Given the description of an element on the screen output the (x, y) to click on. 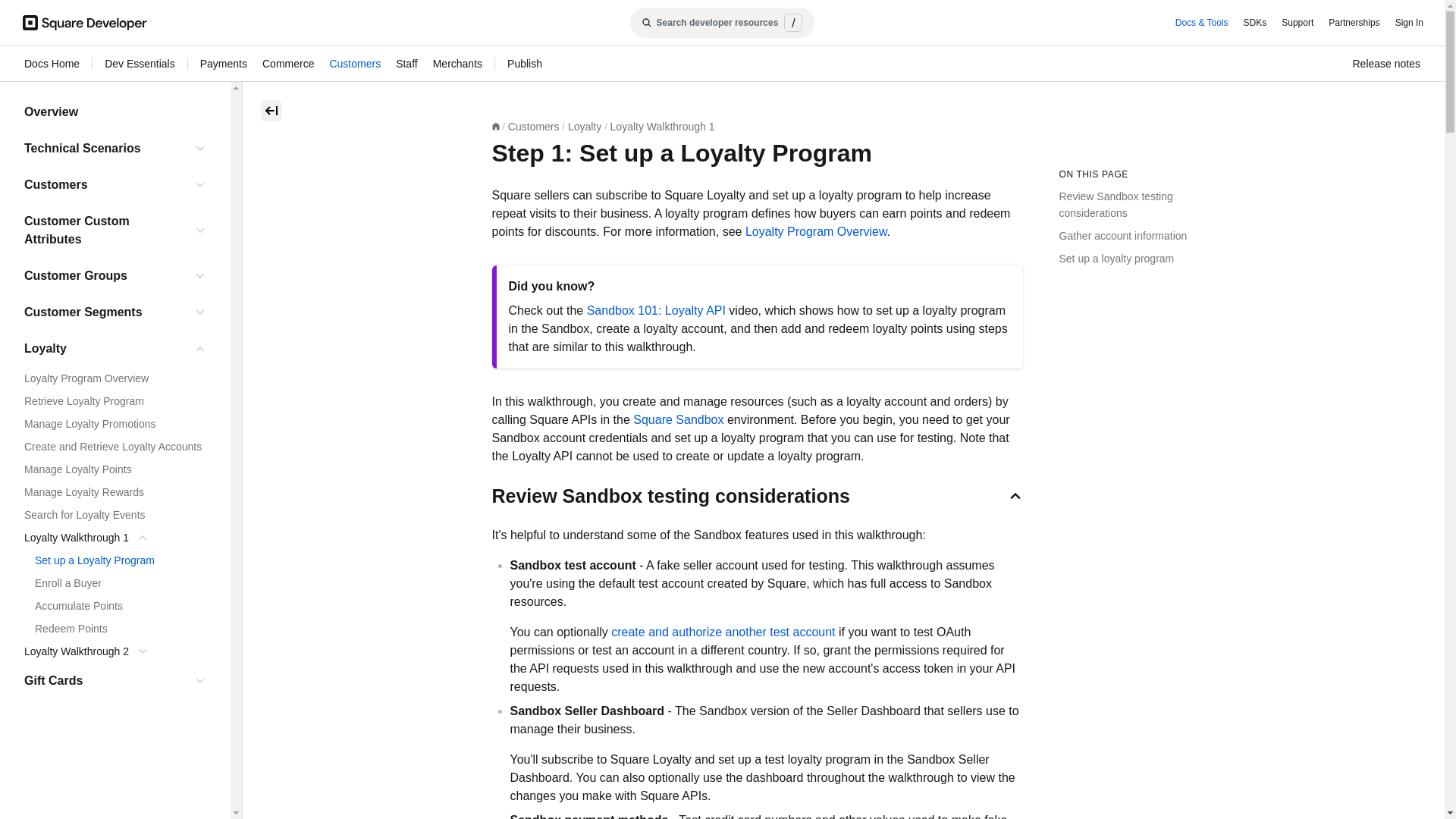
Merchants (456, 63)
Customers (354, 63)
Overview (114, 112)
Support (1296, 22)
Sign In (1409, 22)
Release notes (1386, 63)
Partnerships (1353, 22)
Dev Essentials (139, 63)
Commerce (288, 63)
Payments (223, 63)
SDKs (1255, 22)
Technical Scenarios (104, 148)
Docs Home (52, 63)
Publish (523, 63)
